Given the description of an element on the screen output the (x, y) to click on. 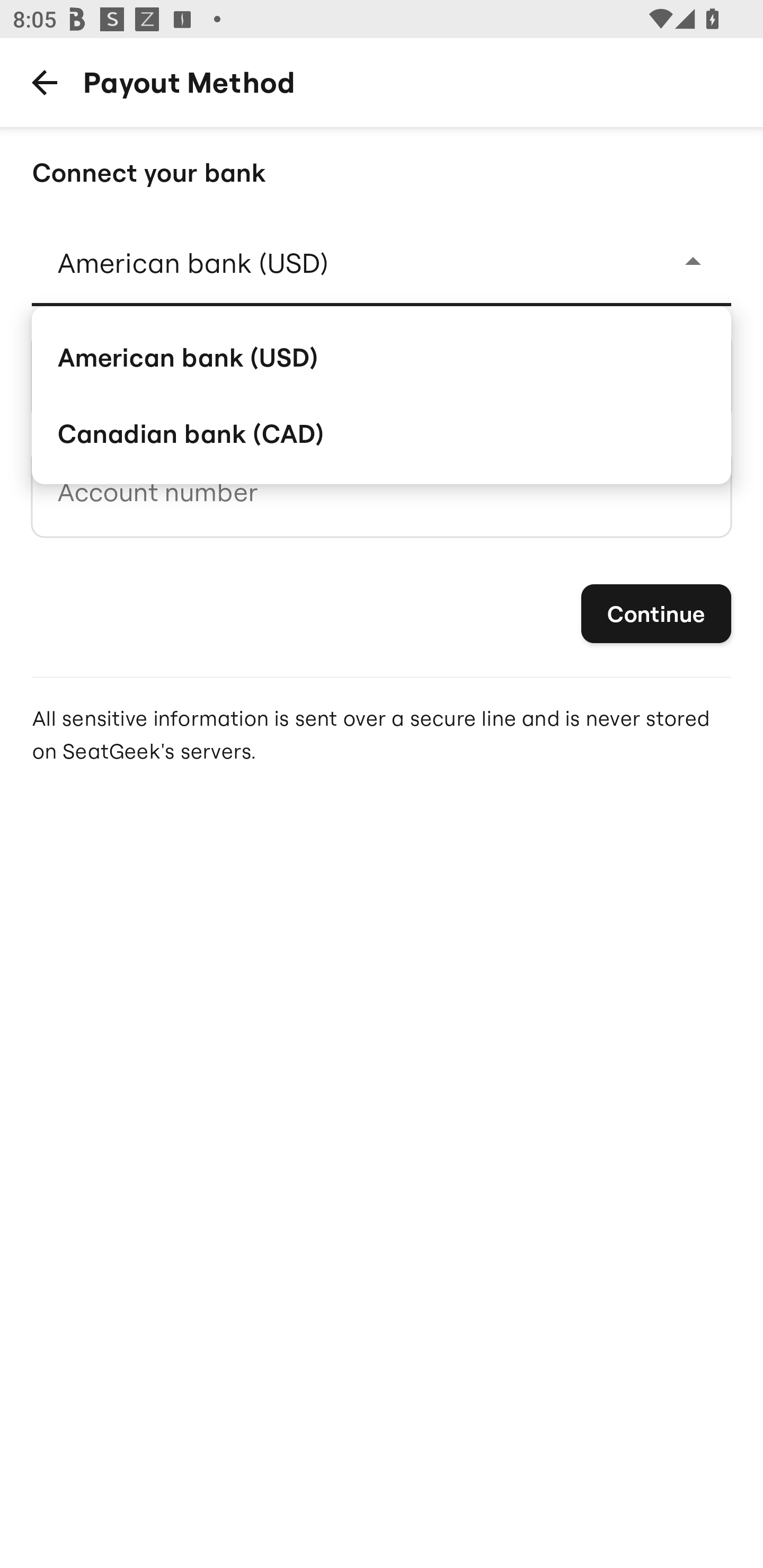
American bank (USD) (381, 356)
Canadian bank (CAD) (381, 433)
